Given the description of an element on the screen output the (x, y) to click on. 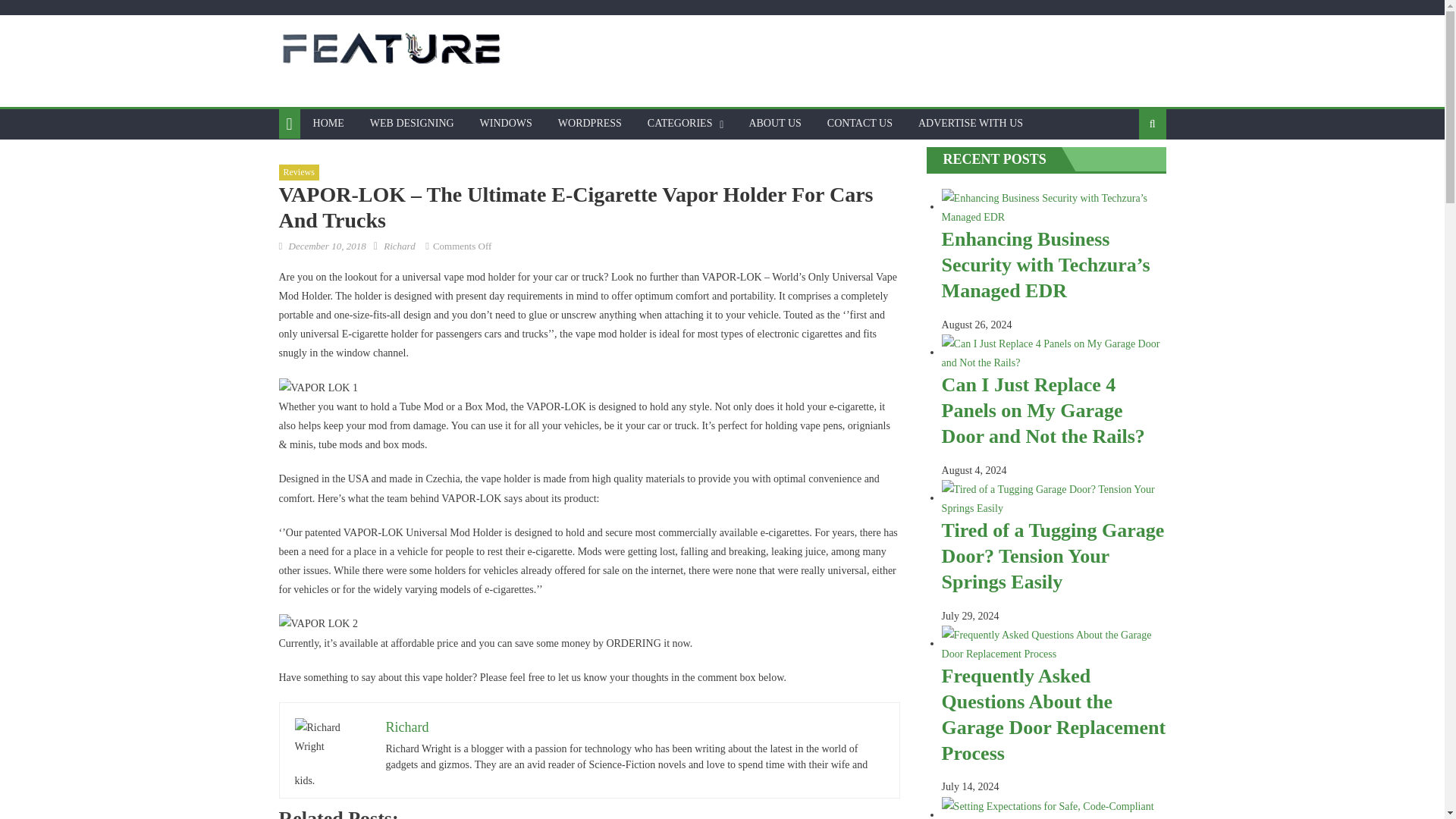
CATEGORIES (679, 123)
Richard Wright (331, 736)
VAPOR LOK 2 (318, 623)
WORDPRESS (590, 123)
WEB DESIGNING (411, 123)
HOME (328, 123)
VAPOR LOK 1 (318, 387)
WINDOWS (505, 123)
